Given the description of an element on the screen output the (x, y) to click on. 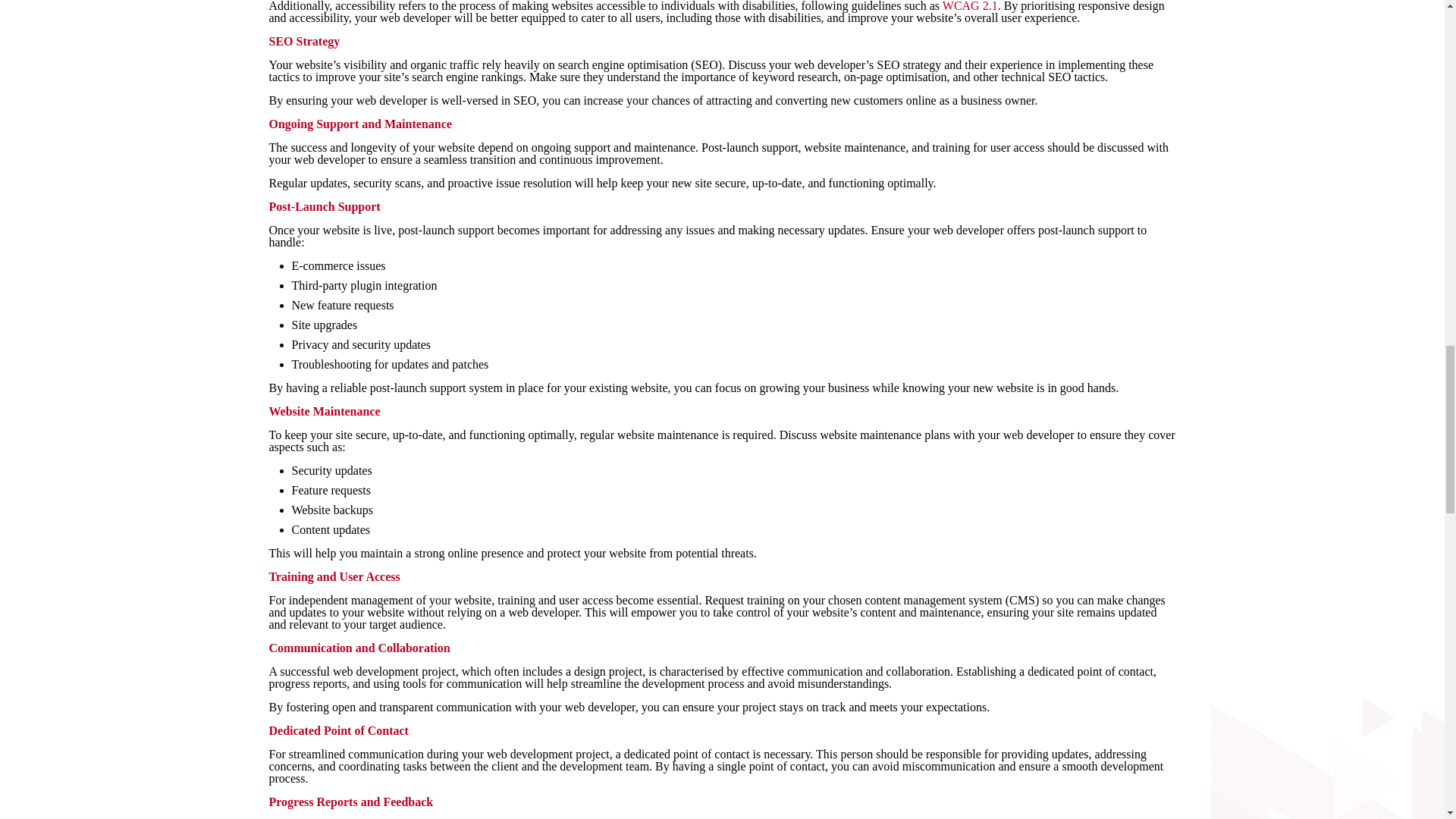
WCAG 2.1 (969, 6)
